Given the description of an element on the screen output the (x, y) to click on. 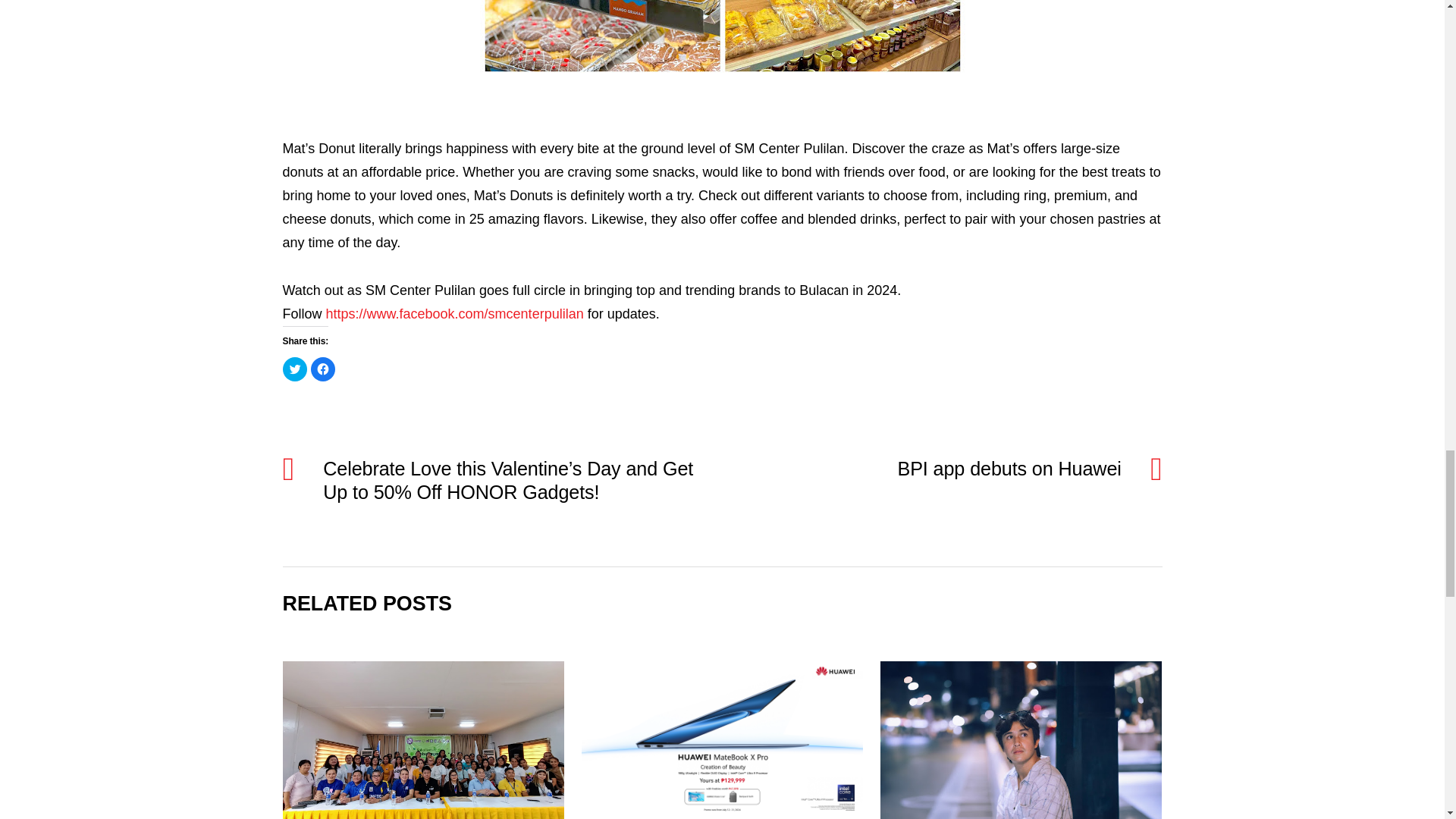
Click to share on Twitter (293, 369)
Click to share on Facebook (322, 369)
BPI app debuts on Huawei (934, 468)
